Given the description of an element on the screen output the (x, y) to click on. 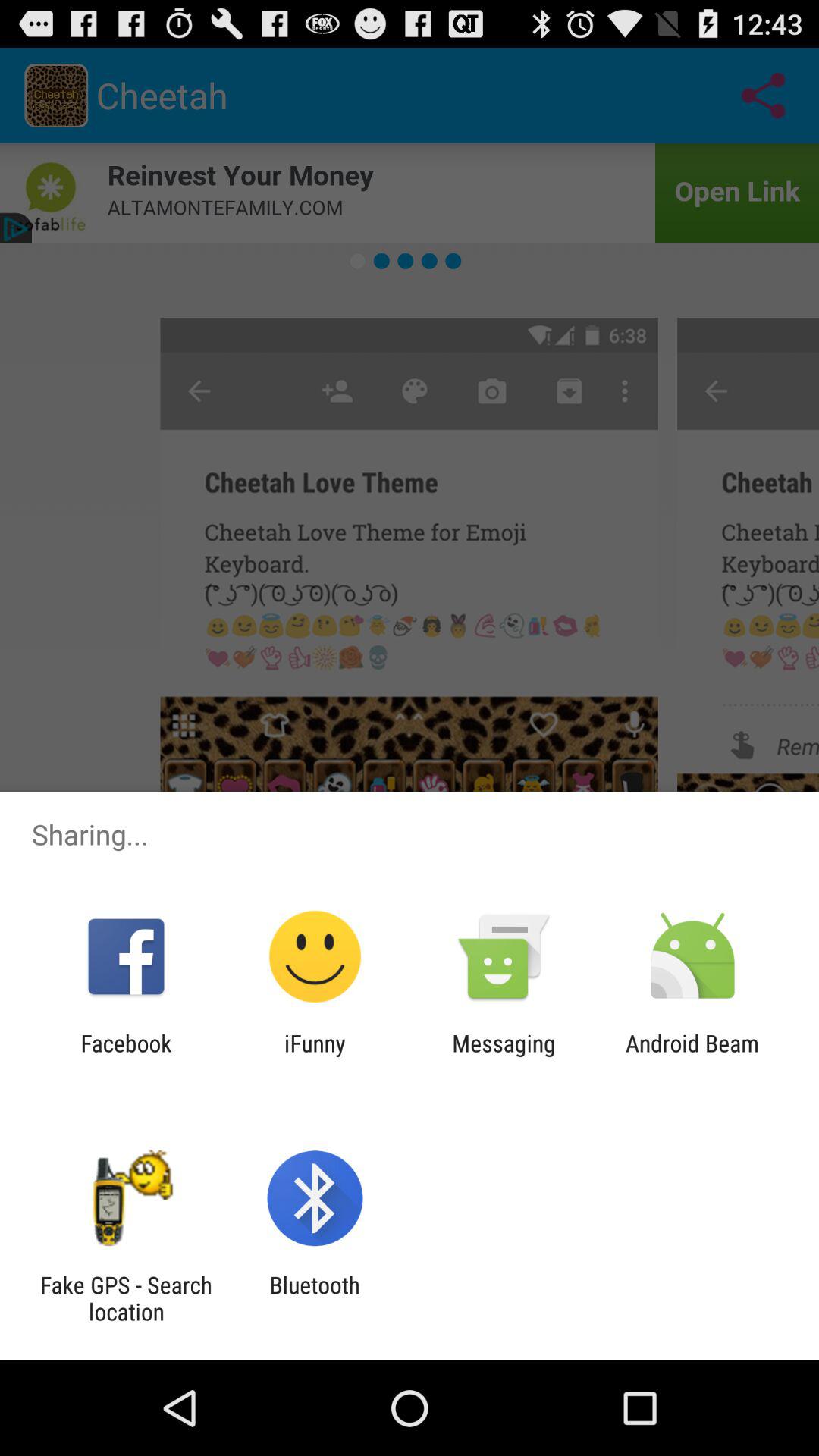
turn on app to the left of the ifunny (125, 1056)
